Given the description of an element on the screen output the (x, y) to click on. 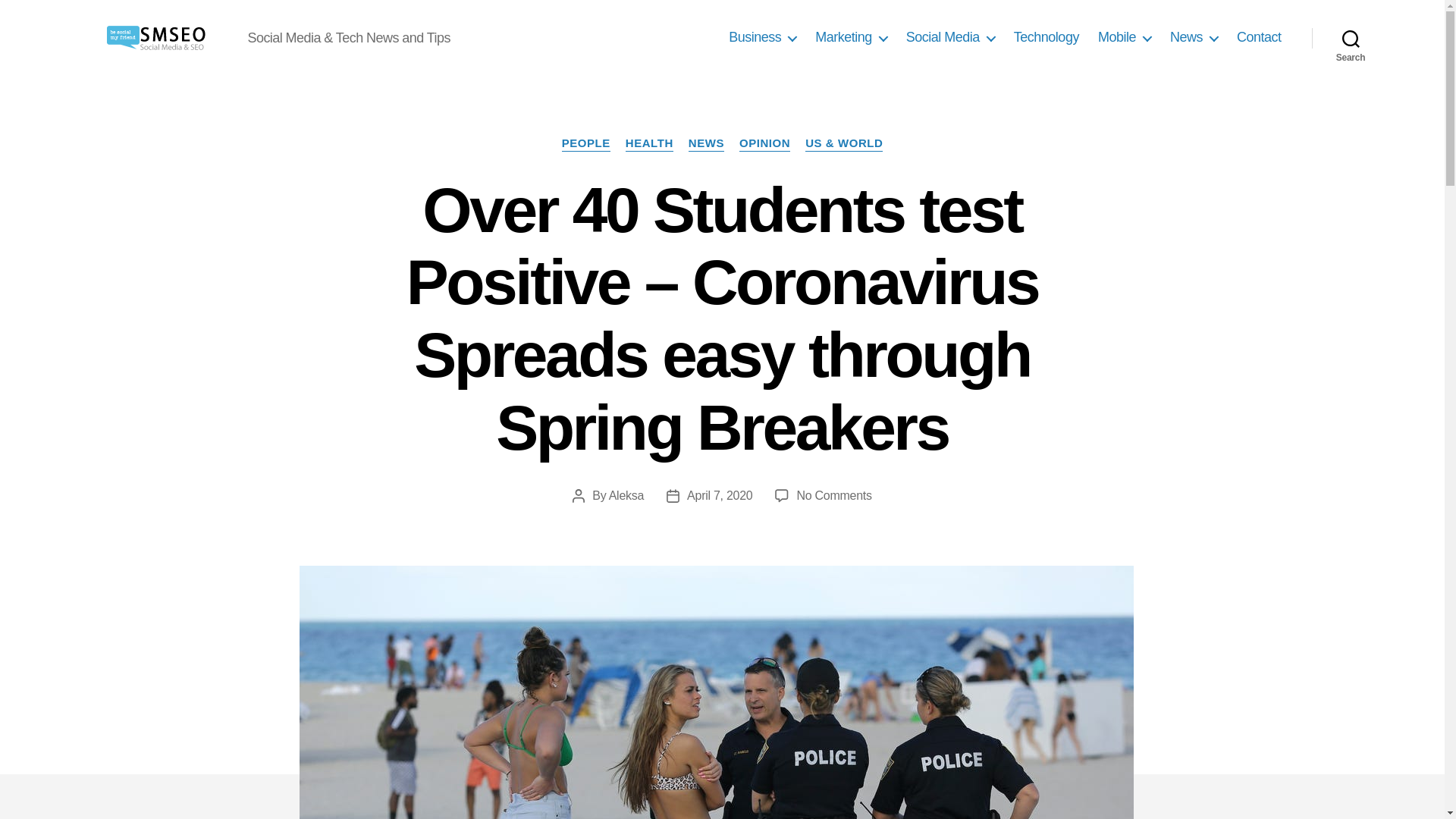
Contact (1258, 37)
Search (1350, 37)
Mobile (1124, 37)
Marketing (850, 37)
Business (762, 37)
Technology (1045, 37)
News (1193, 37)
Social Media (949, 37)
